Given the description of an element on the screen output the (x, y) to click on. 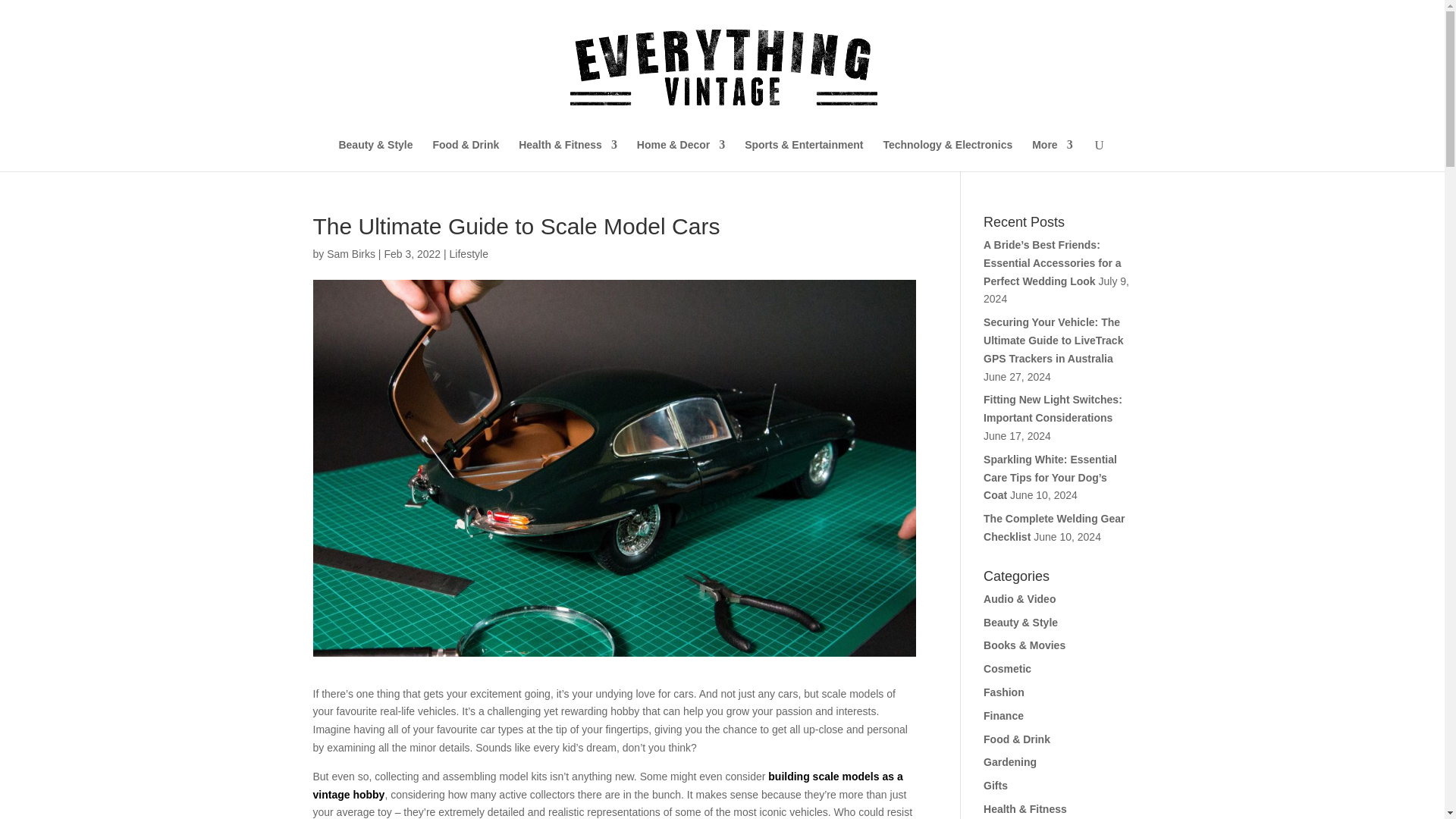
More (1051, 155)
building scale models as a vintage hobby (607, 785)
Fitting New Light Switches: Important Considerations (1053, 408)
